Given the description of an element on the screen output the (x, y) to click on. 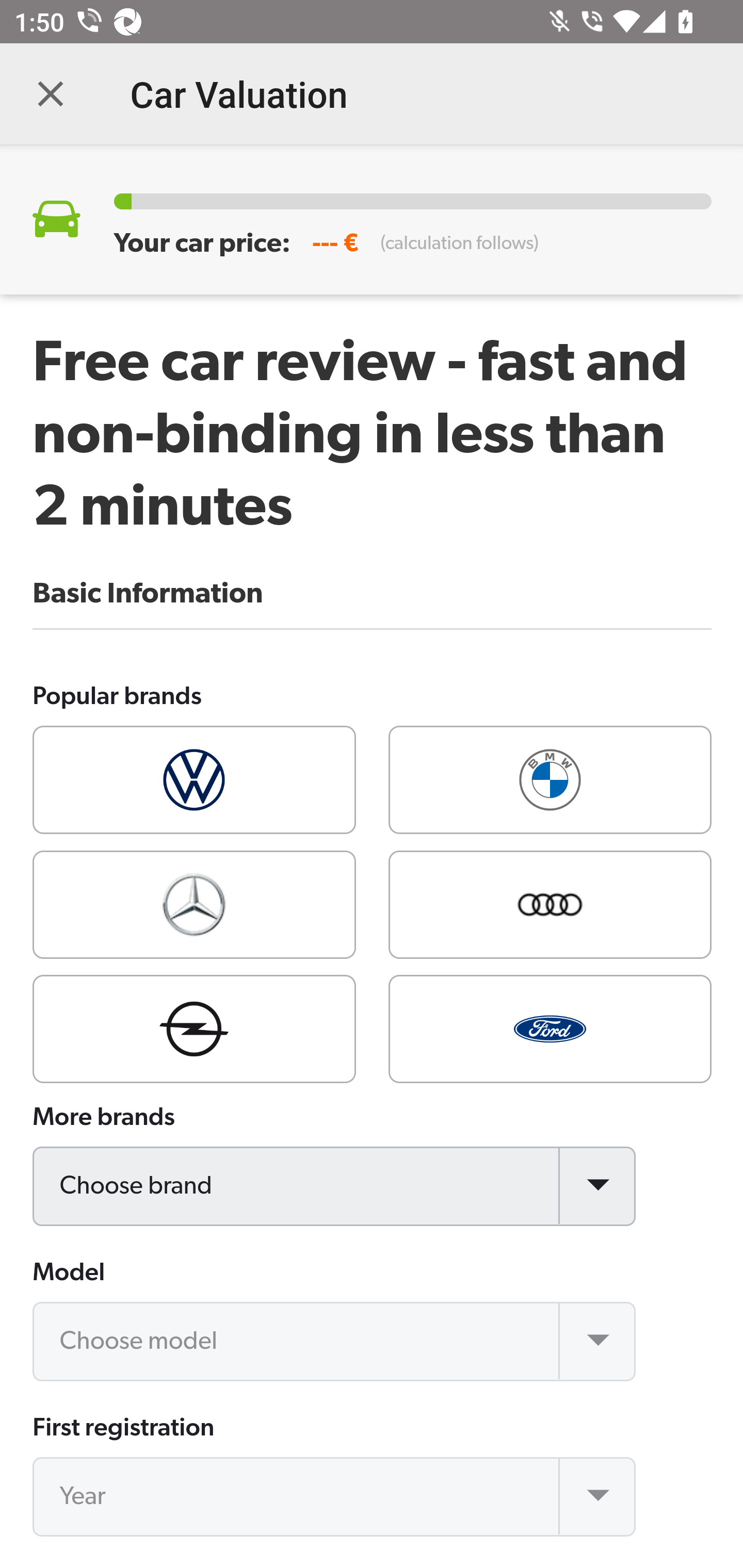
Navigate up (50, 93)
Choose brand (334, 1185)
Choose model (334, 1340)
Year (334, 1496)
Month (334, 1567)
